Given the description of an element on the screen output the (x, y) to click on. 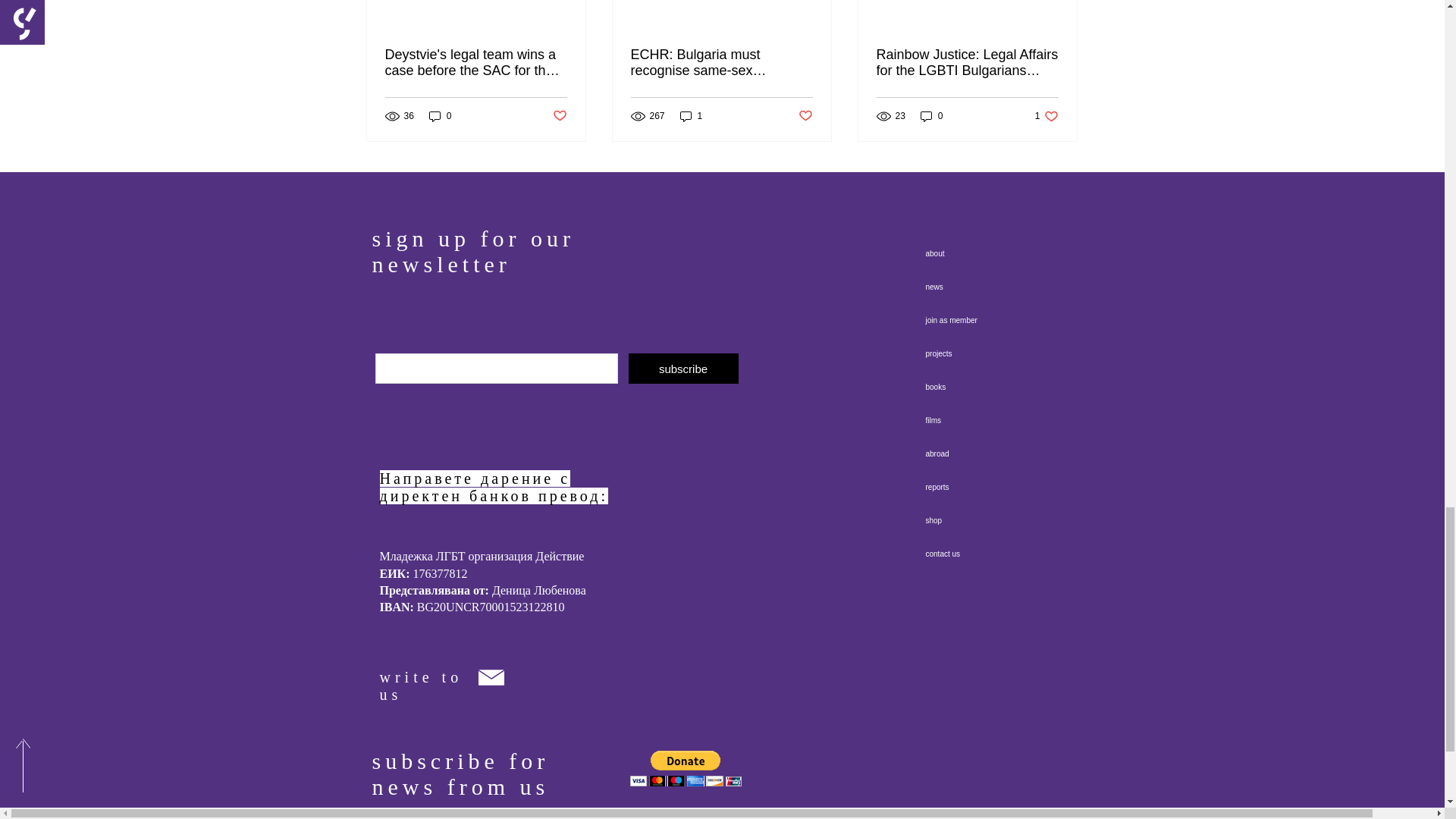
0 (440, 115)
ECHR: Bulgaria must recognise same-sex relationships (721, 62)
Post not marked as liked (804, 116)
Post not marked as liked (558, 116)
1 (691, 115)
